Given the description of an element on the screen output the (x, y) to click on. 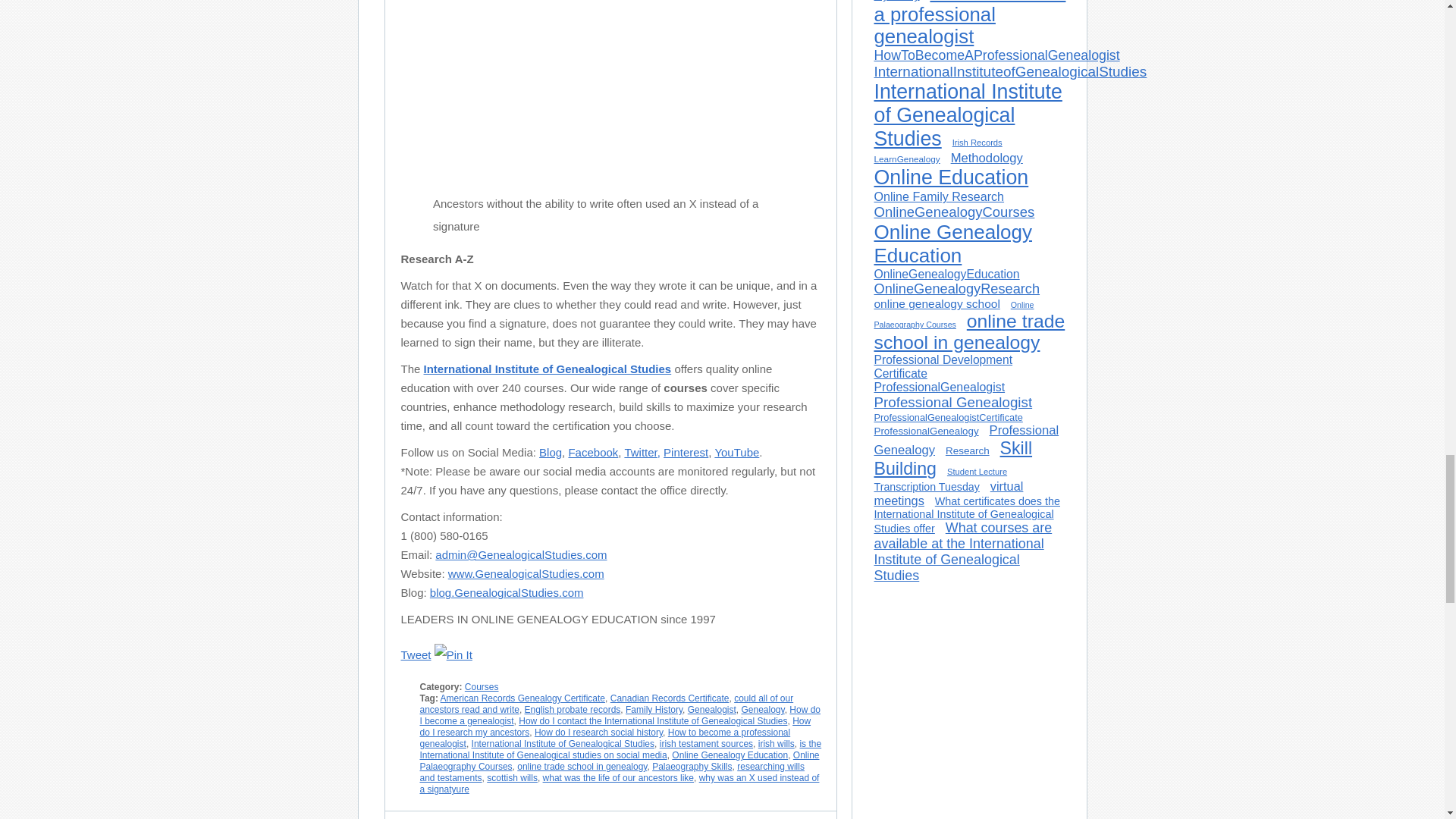
Pin It (452, 654)
Pinterest (685, 451)
American Records Genealogy Certificate (523, 697)
www.GenealogicalStudies.com (526, 573)
Blog (550, 451)
Courses (481, 686)
Facebook (592, 451)
YouTube (736, 451)
Canadian Records Certificate (669, 697)
blog.GenealogicalStudies.com (506, 592)
